Given the description of an element on the screen output the (x, y) to click on. 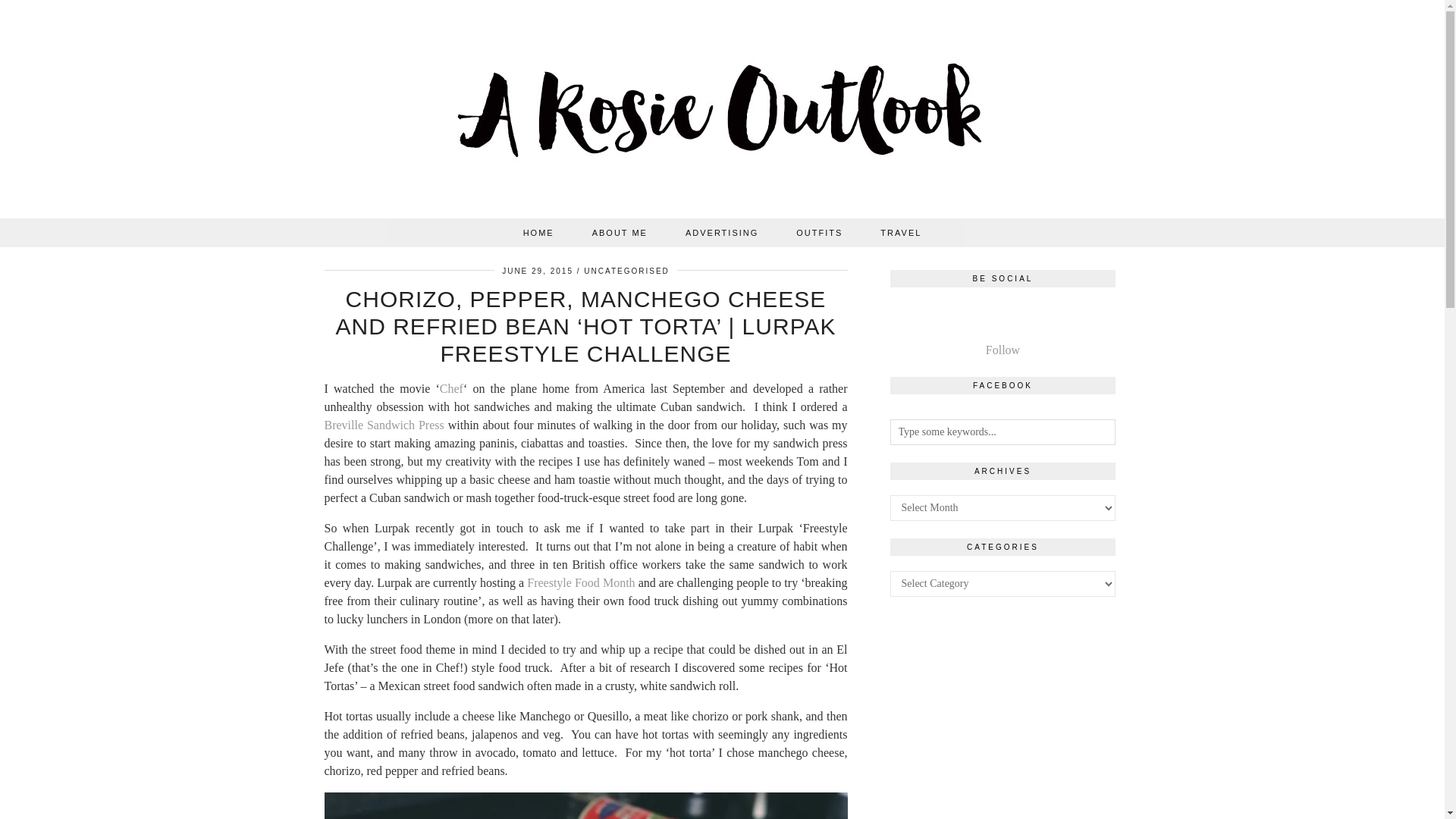
ABOUT ME (619, 232)
Chef (451, 388)
TRAVEL (900, 232)
ADVERTISING (721, 232)
HOME (538, 232)
Freestyle Food Month (580, 582)
Breville Sandwich Press (384, 424)
OUTFITS (819, 232)
UNCATEGORISED (626, 270)
A Rosie Outlook (722, 112)
